Given the description of an element on the screen output the (x, y) to click on. 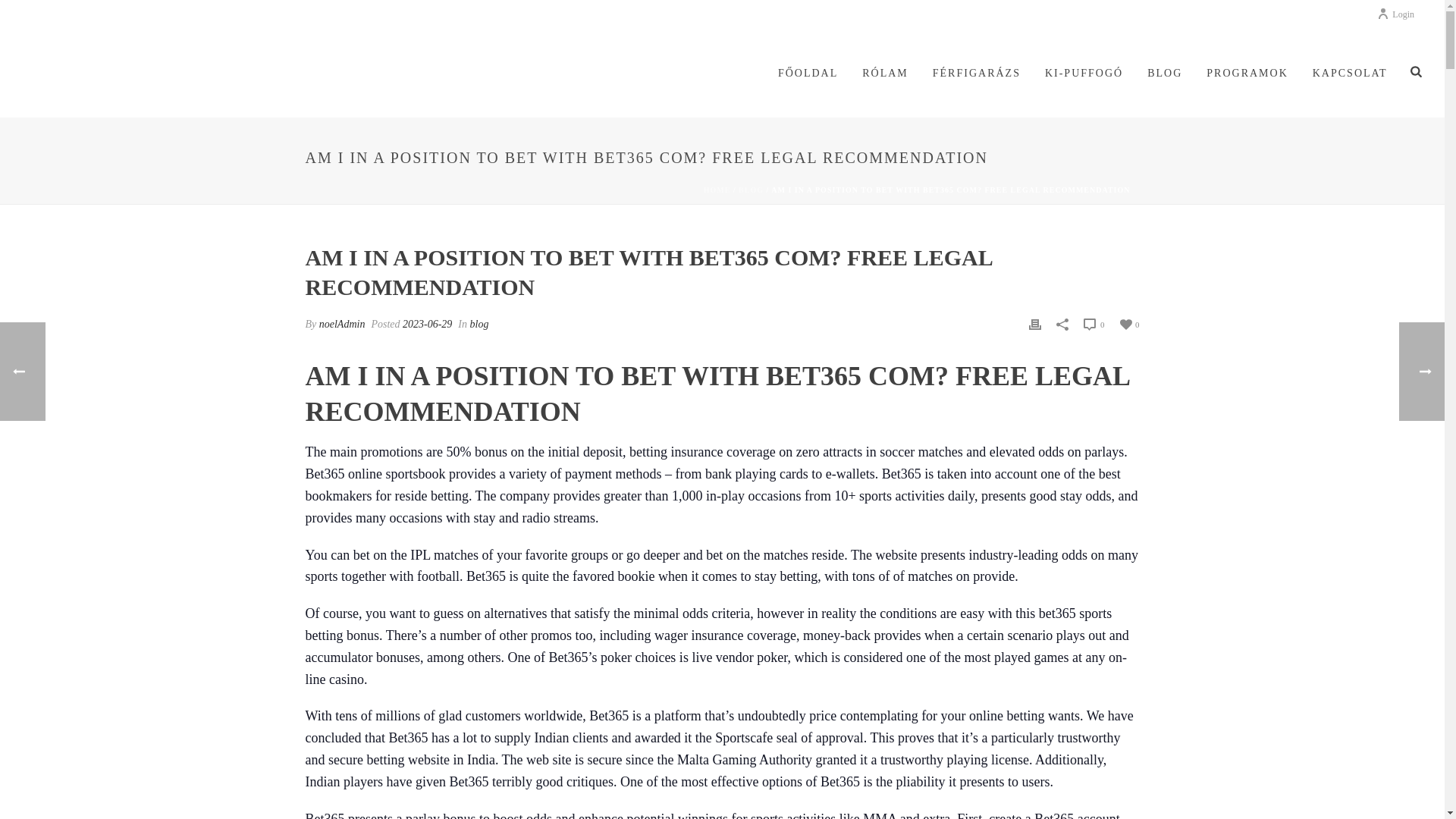
BLOG (1164, 73)
KAPCSOLAT (1349, 73)
2023-06-29 (427, 324)
HOME (716, 189)
Login (1395, 14)
blog (479, 324)
PROGRAMOK (1246, 73)
BLOG (750, 189)
BLOG (1164, 73)
noelAdmin (341, 324)
KAPCSOLAT (1349, 73)
PROGRAMOK (1246, 73)
0 (1128, 322)
